Given the description of an element on the screen output the (x, y) to click on. 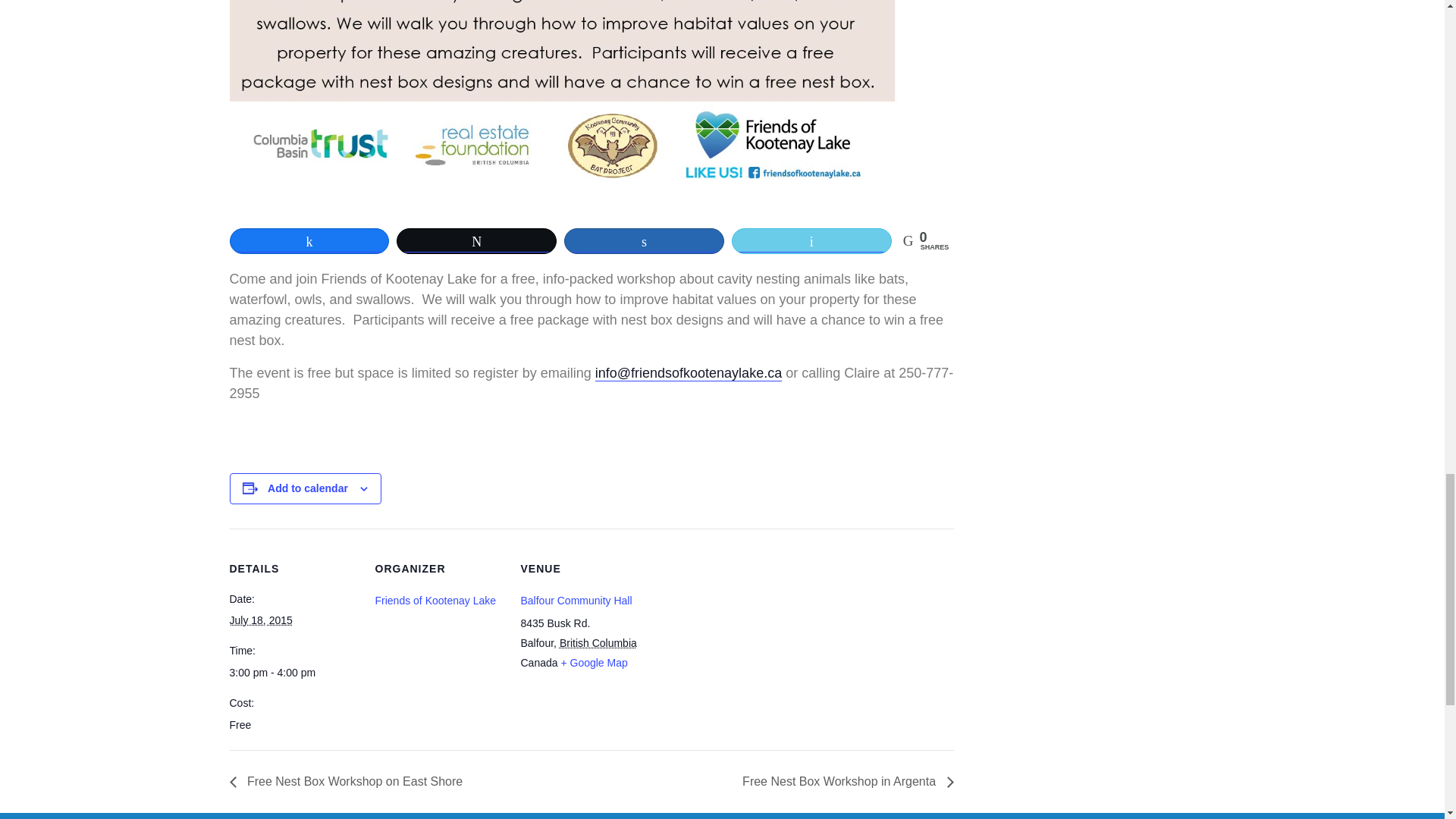
British Columbia (598, 643)
2015-07-18 (292, 672)
Click to view a Google Map (593, 662)
2015-07-18 (260, 620)
Friends of Kootenay Lake (435, 600)
